Given the description of an element on the screen output the (x, y) to click on. 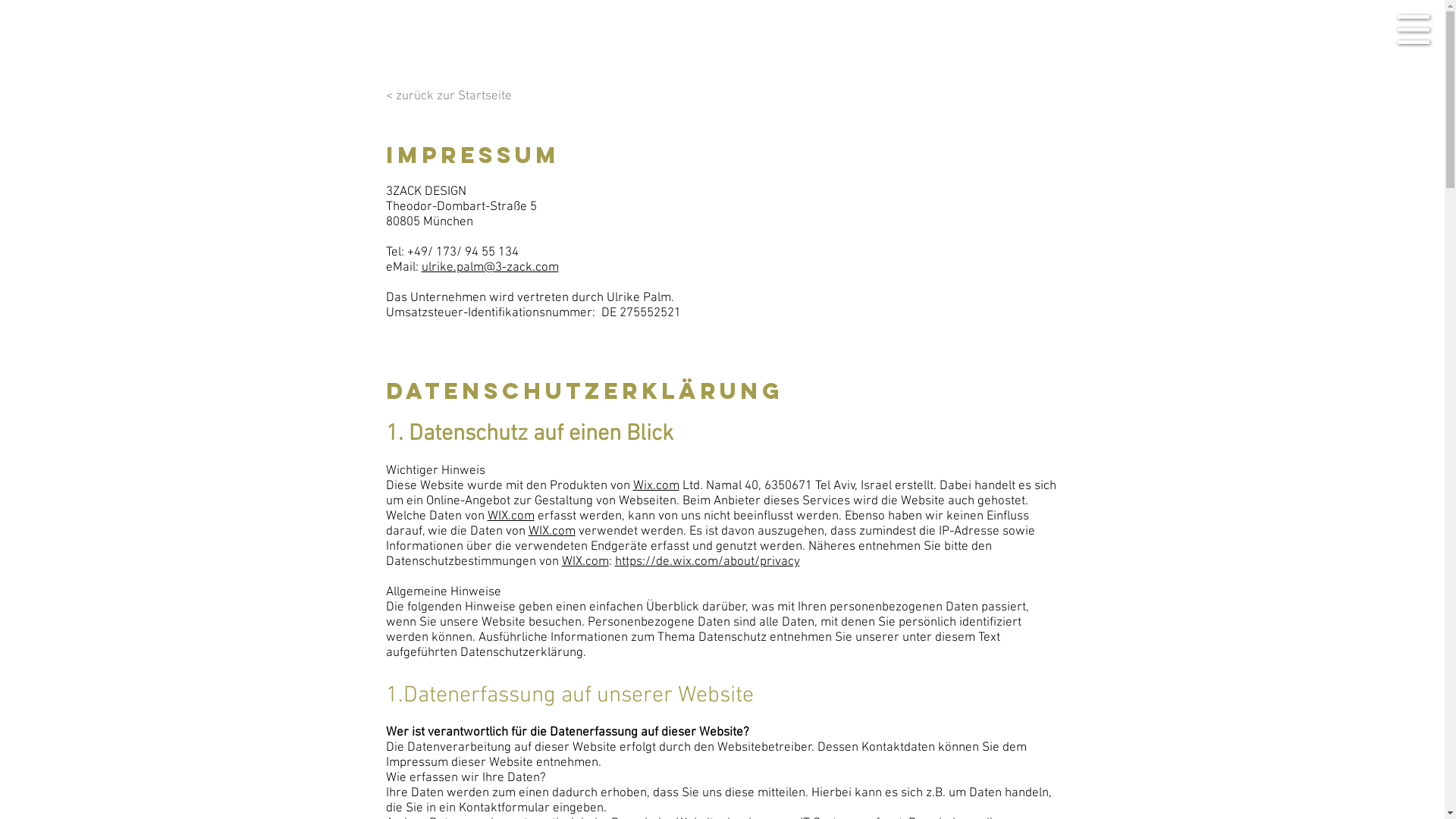
WIX.com Element type: text (550, 531)
ulrike.palm@3-zack.com Element type: text (489, 267)
WIX.com Element type: text (509, 516)
https://de.wix.com/about/privacy Element type: text (706, 561)
WIX.com Element type: text (584, 561)
Wix.com Element type: text (655, 485)
